Given the description of an element on the screen output the (x, y) to click on. 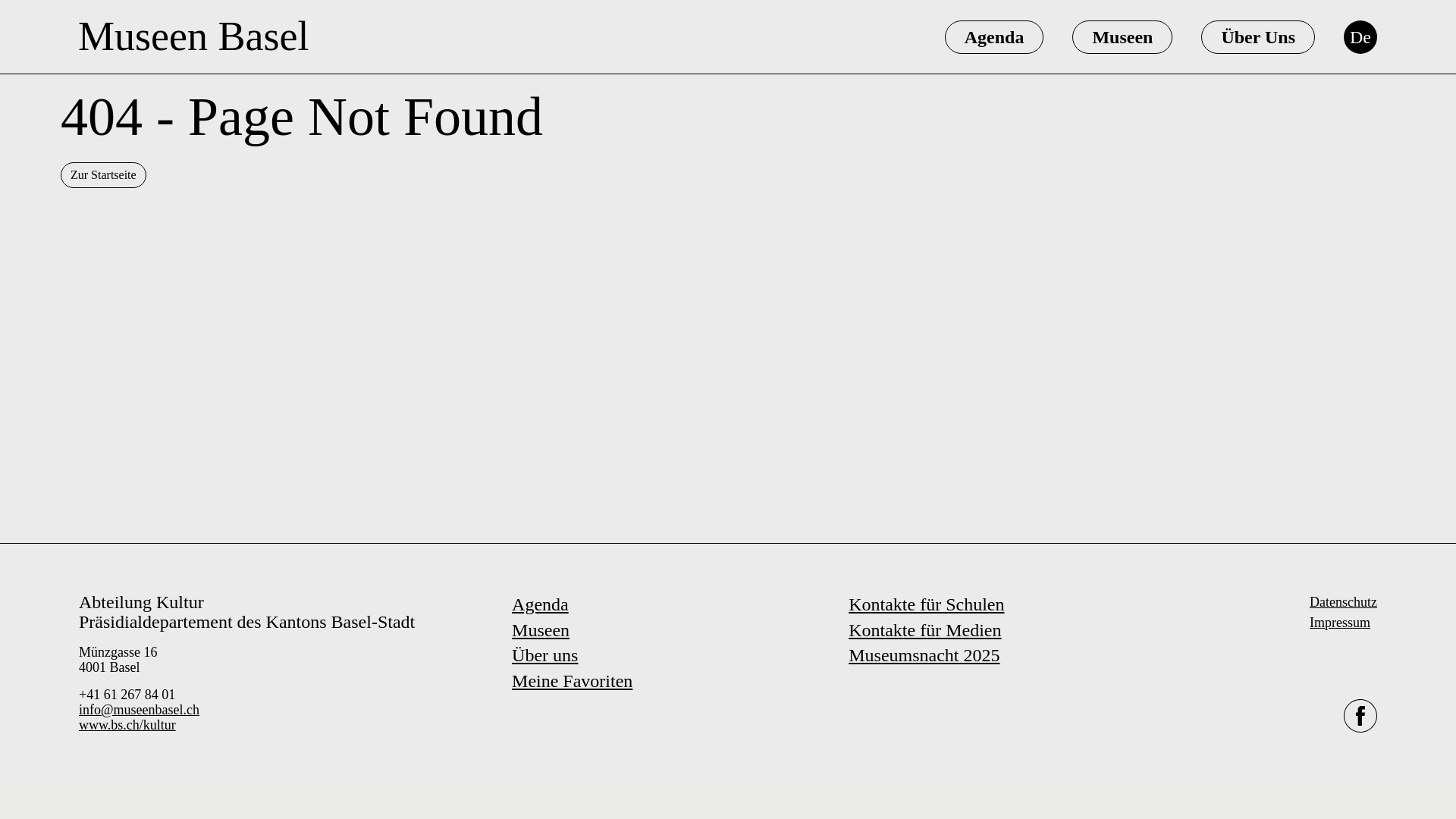
Museumsnacht 2025 (923, 655)
Meine Favoriten (571, 680)
Agenda (540, 604)
Agenda (993, 36)
Impressum (1339, 622)
Datenschutz (1342, 601)
Museen (540, 629)
Zur Startseite (104, 175)
Museen Basel (193, 35)
Museen (1121, 36)
